Given the description of an element on the screen output the (x, y) to click on. 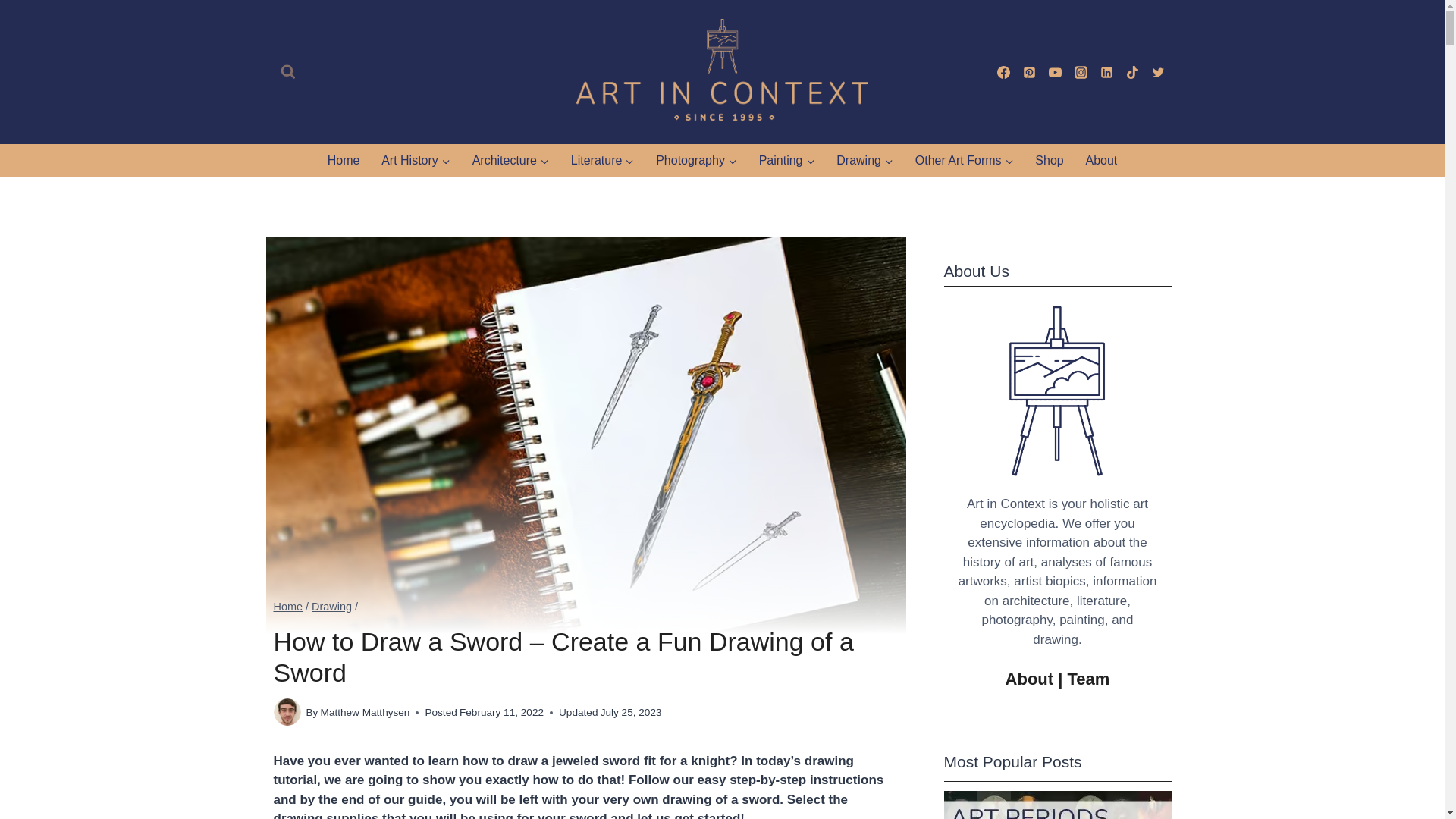
Architecture (510, 160)
Painting (786, 160)
Photography (696, 160)
Literature (602, 160)
Art History (416, 160)
Home (342, 160)
